Given the description of an element on the screen output the (x, y) to click on. 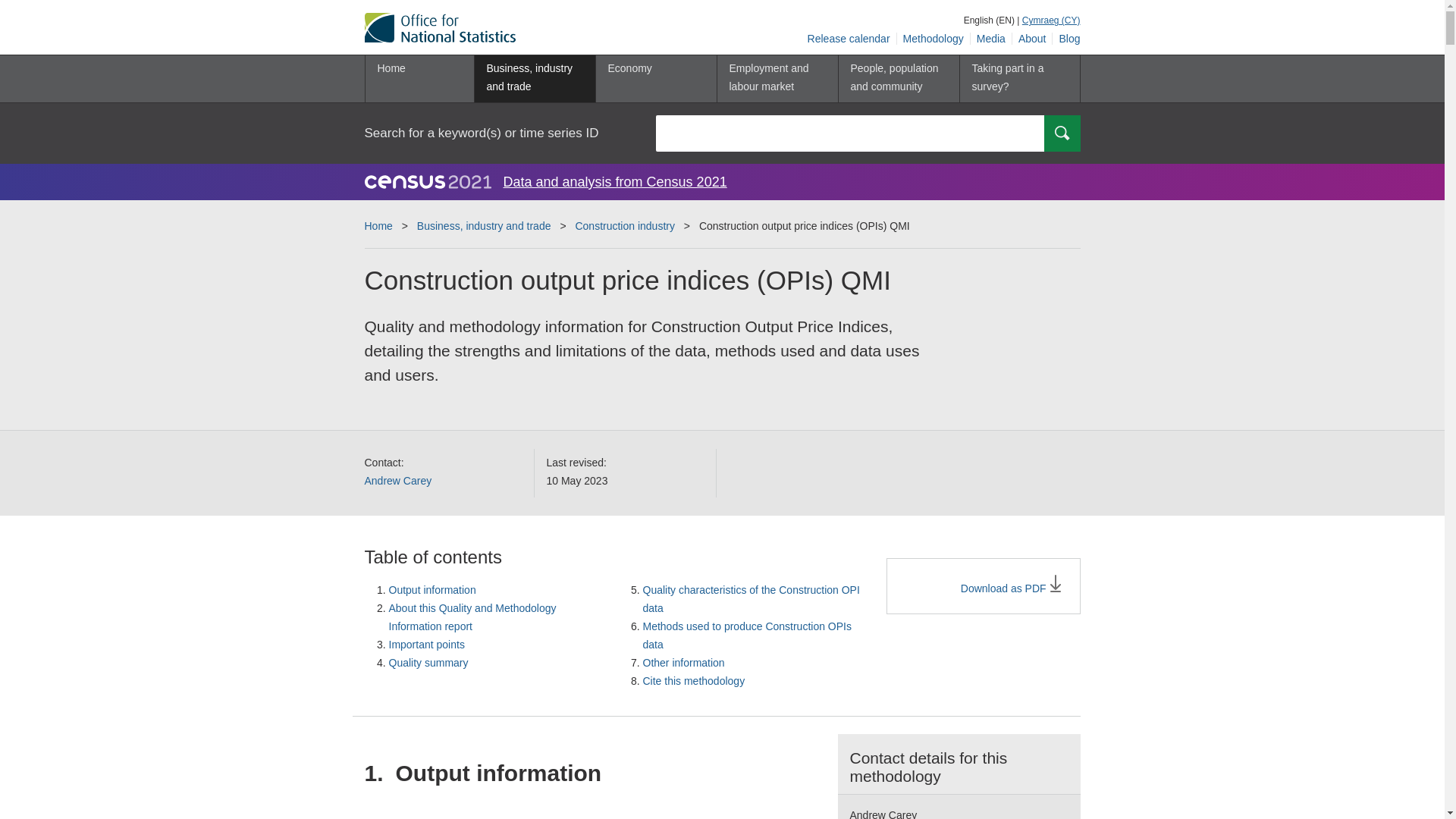
Release calendar (849, 38)
Important points (426, 644)
Cite this methodology (694, 680)
People, population and community (897, 78)
Other information (684, 662)
Blog (1066, 38)
Media (991, 38)
Economy (655, 78)
Home (418, 78)
Quality summary (427, 662)
Output information (432, 589)
Employment and labour market (776, 78)
Methods used to produce Construction OPIs data (747, 634)
Census 2021 (427, 181)
Quality characteristics of the Construction OPI data (751, 598)
